Given the description of an element on the screen output the (x, y) to click on. 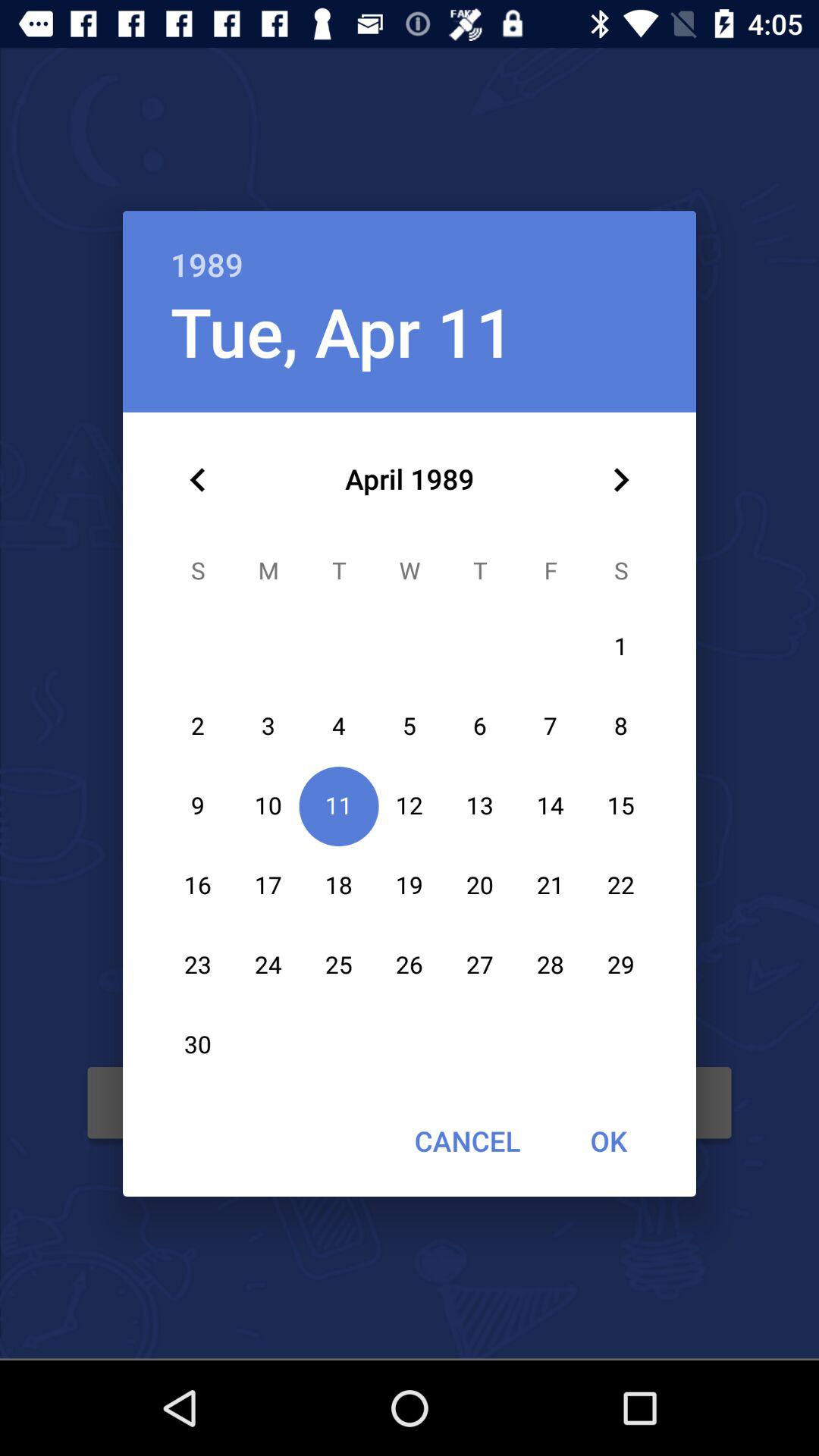
tap the item above tue, apr 11 (409, 248)
